Given the description of an element on the screen output the (x, y) to click on. 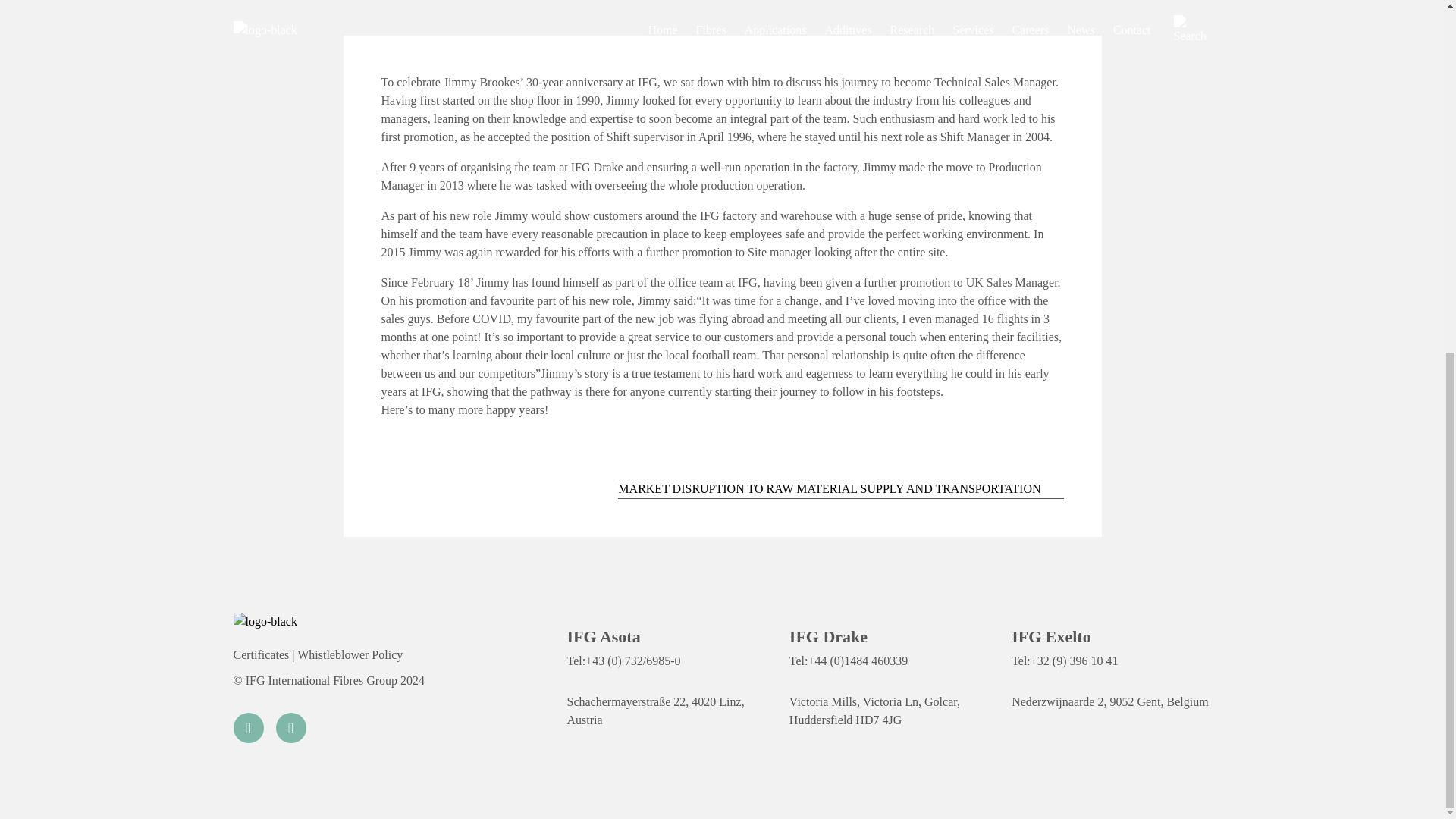
Certificates (260, 654)
Whistleblower Policy (350, 654)
MARKET DISRUPTION TO RAW MATERIAL SUPPLY AND TRANSPORTATION (839, 488)
